Given the description of an element on the screen output the (x, y) to click on. 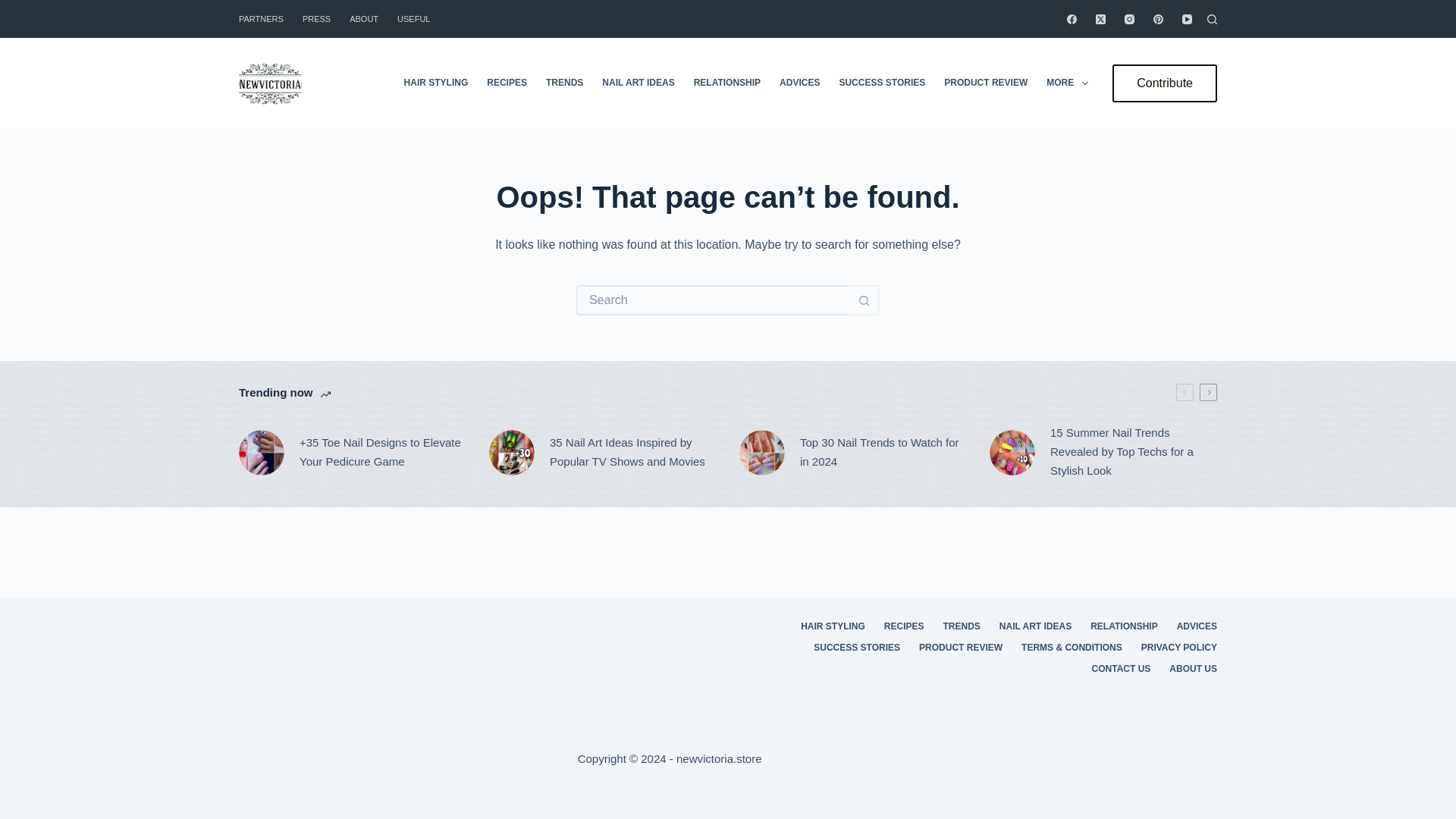
Search for... (712, 300)
NAIL ART IDEAS (638, 82)
ABOUT (364, 18)
USEFUL (413, 18)
Skip to content (15, 7)
RELATIONSHIP (727, 82)
PRODUCT REVIEW (985, 82)
HAIR STYLING (435, 82)
SUCCESS STORIES (881, 82)
PRESS (315, 18)
